Given the description of an element on the screen output the (x, y) to click on. 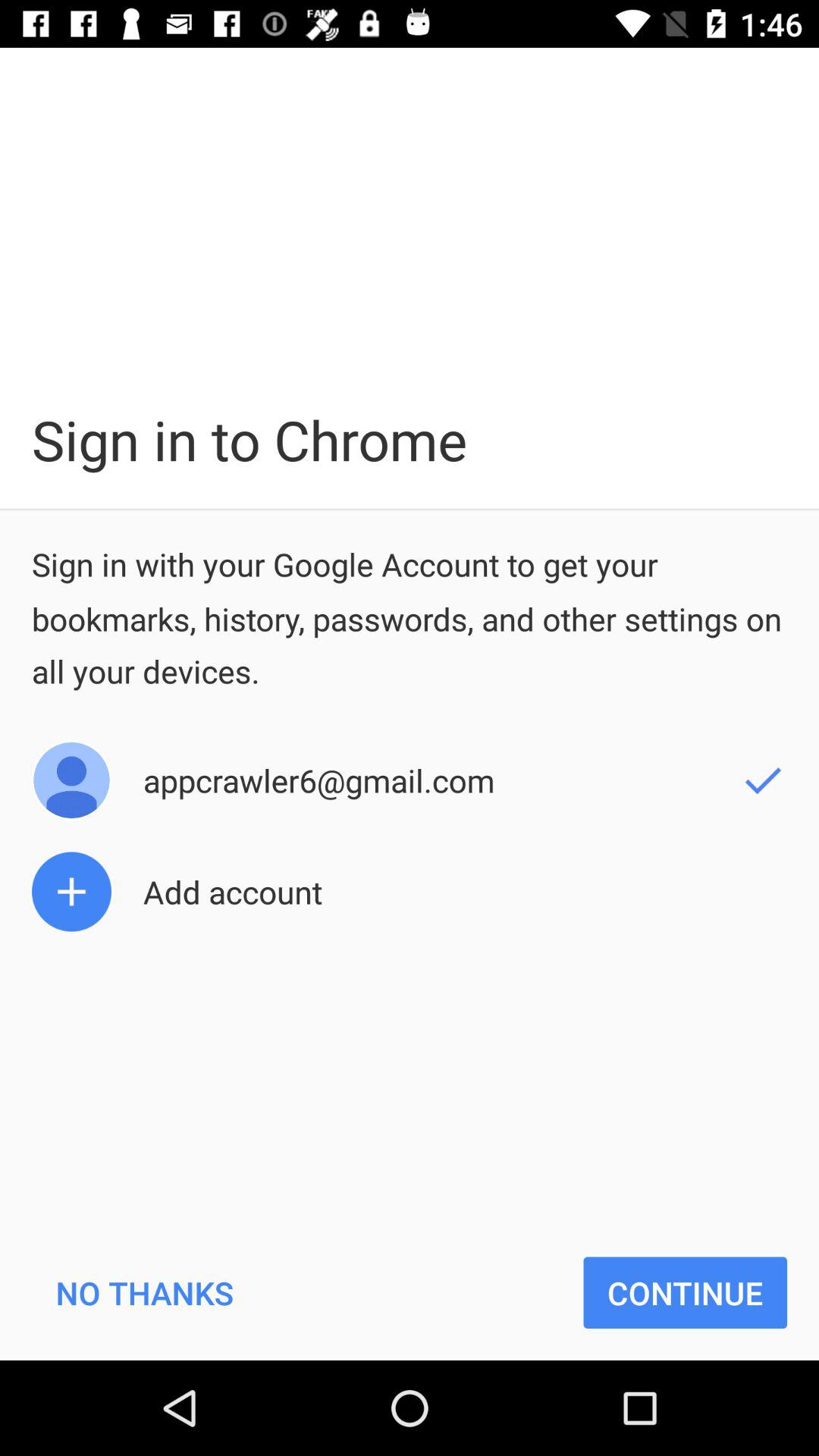
click item at the bottom right corner (685, 1292)
